Given the description of an element on the screen output the (x, y) to click on. 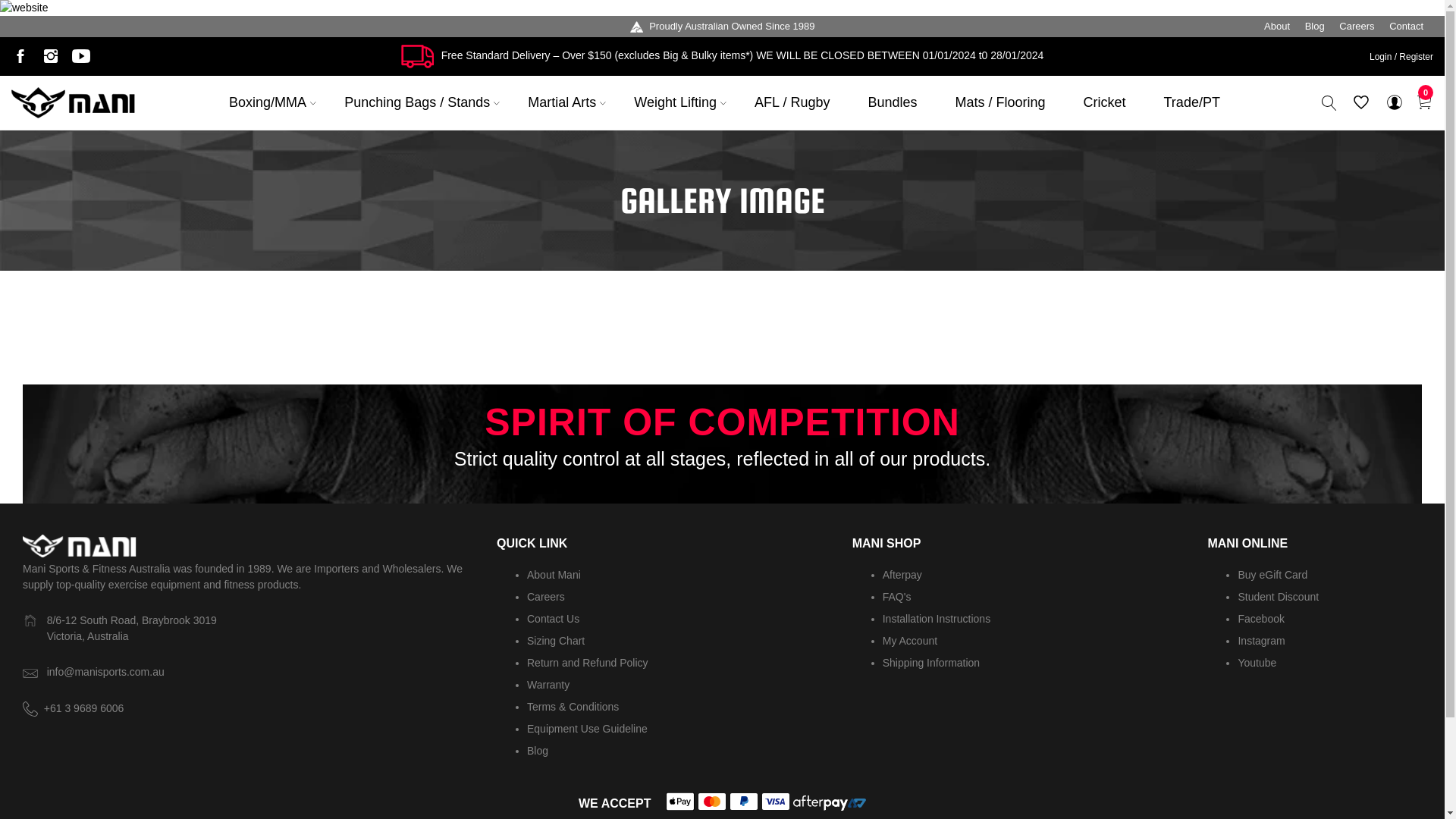
Shipping Information Element type: text (930, 662)
Warranty Element type: text (548, 684)
Weight Lifting Element type: text (675, 102)
Trade/PT Element type: text (1192, 102)
Sizing Chart Element type: text (555, 640)
Instagram Element type: text (1260, 640)
My Account Element type: text (909, 640)
Facebook Element type: text (20, 56)
info@manisports.com.au Element type: text (105, 671)
YouTube Element type: text (80, 56)
FAQ's Element type: text (896, 596)
About Mani Element type: text (553, 574)
Martial Arts Element type: text (561, 102)
Return and Refund Policy Element type: text (587, 662)
Boxing/MMA Element type: text (267, 102)
Student Discount Element type: text (1277, 596)
Blog Element type: text (1314, 25)
Youtube Element type: text (1256, 662)
Bundles Element type: text (891, 102)
Installation Instructions Element type: text (936, 618)
AFL / Rugby Element type: text (791, 102)
Contact Us Element type: text (553, 618)
+61 3 9689 6006 Element type: text (83, 708)
Afterpay Element type: text (902, 574)
Buy eGift Card Element type: text (1272, 574)
0 Element type: text (1422, 101)
Mats / Flooring Element type: text (999, 102)
Punching Bags / Stands Element type: text (416, 102)
Terms & Conditions Element type: text (572, 706)
Login / Register Element type: text (1401, 56)
Contact Element type: text (1406, 25)
Blog Element type: text (537, 750)
Cricket Element type: text (1104, 102)
Facebook Element type: text (1260, 618)
About Element type: text (1276, 25)
Careers Element type: text (545, 596)
Careers Element type: text (1356, 25)
Instagram Element type: text (50, 56)
Equipment Use Guideline Element type: text (587, 728)
